Given the description of an element on the screen output the (x, y) to click on. 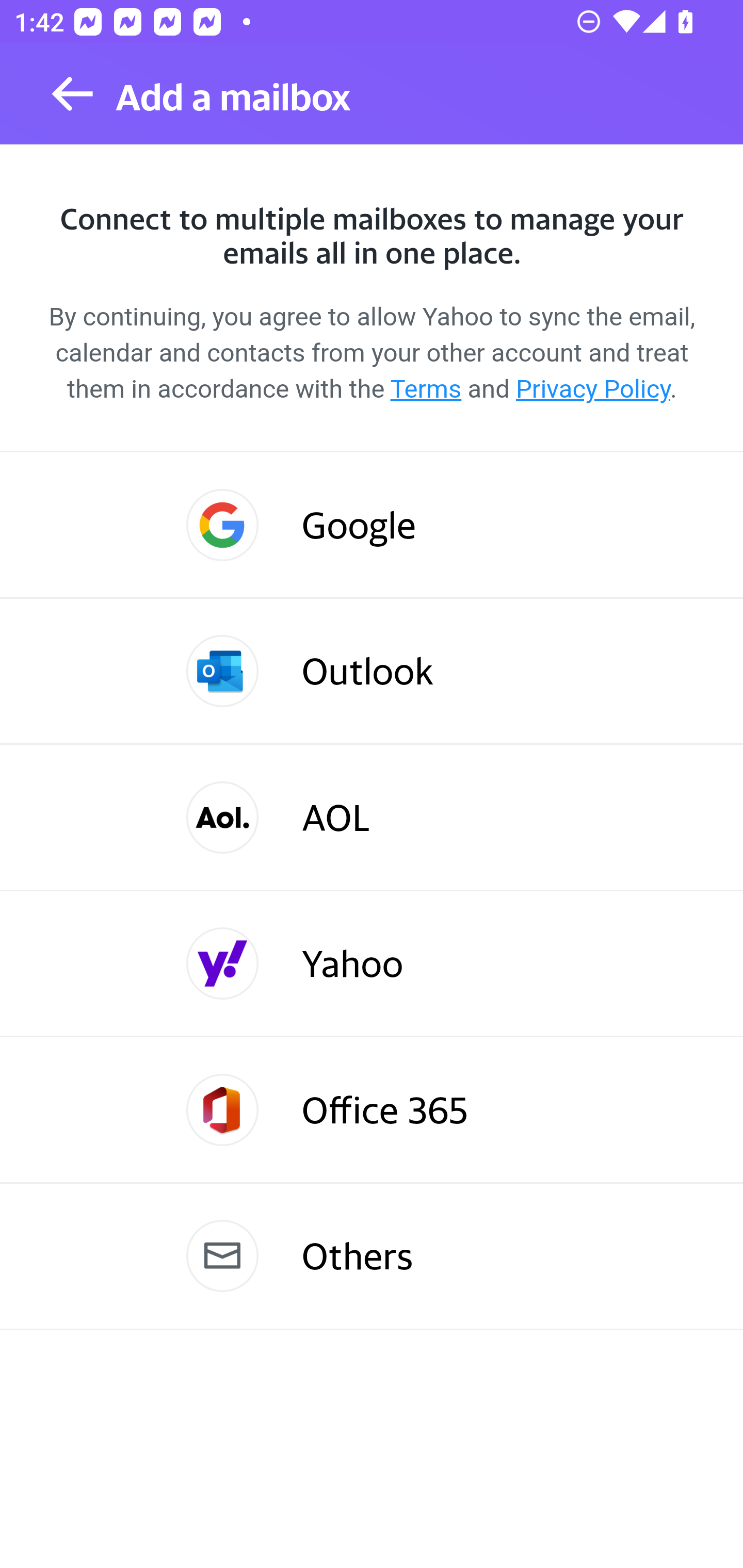
Back (71, 93)
Terms (426, 388)
Privacy Policy (592, 388)
